Given the description of an element on the screen output the (x, y) to click on. 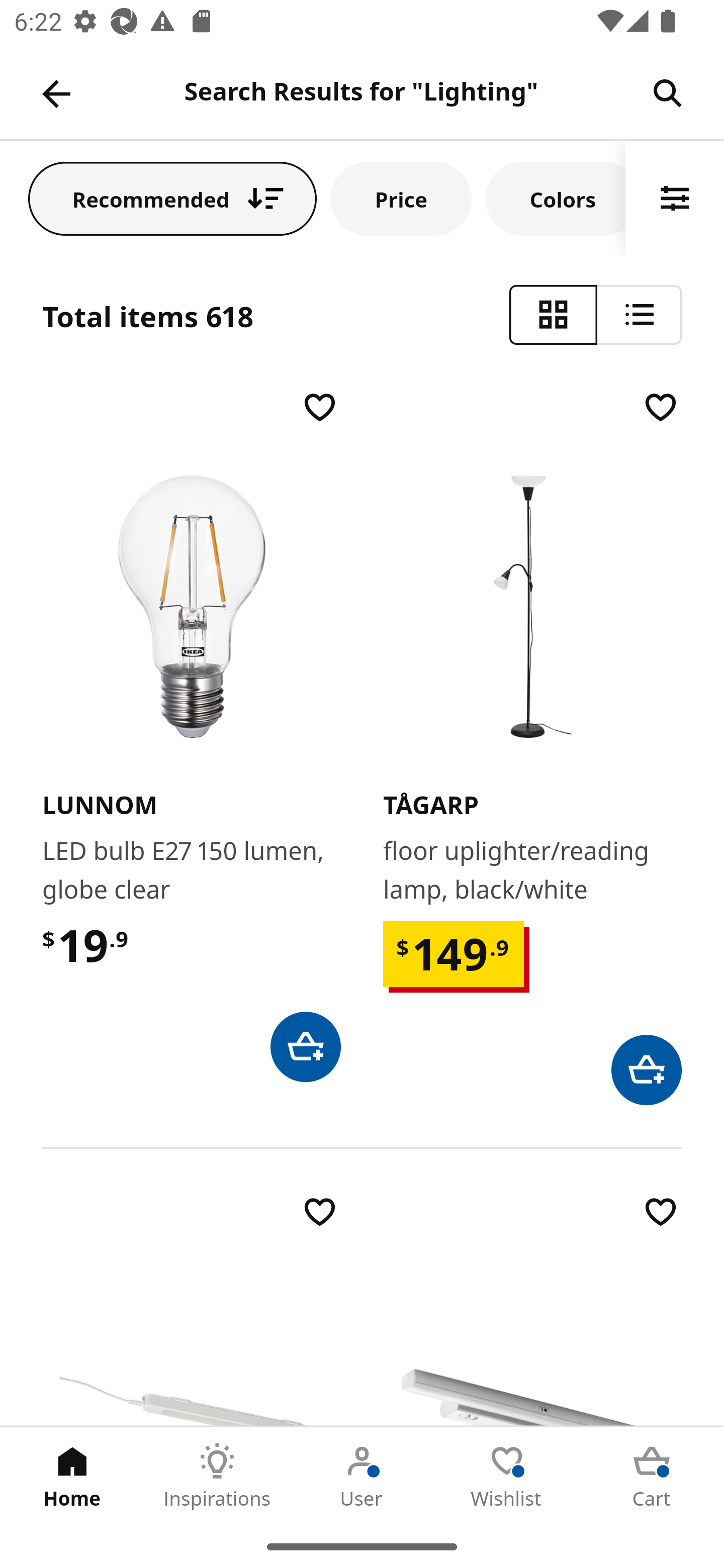
Recommended (172, 198)
Price (400, 198)
Colors (555, 198)
Home
Tab 1 of 5 (72, 1476)
Inspirations
Tab 2 of 5 (216, 1476)
User
Tab 3 of 5 (361, 1476)
Wishlist
Tab 4 of 5 (506, 1476)
Cart
Tab 5 of 5 (651, 1476)
